Given the description of an element on the screen output the (x, y) to click on. 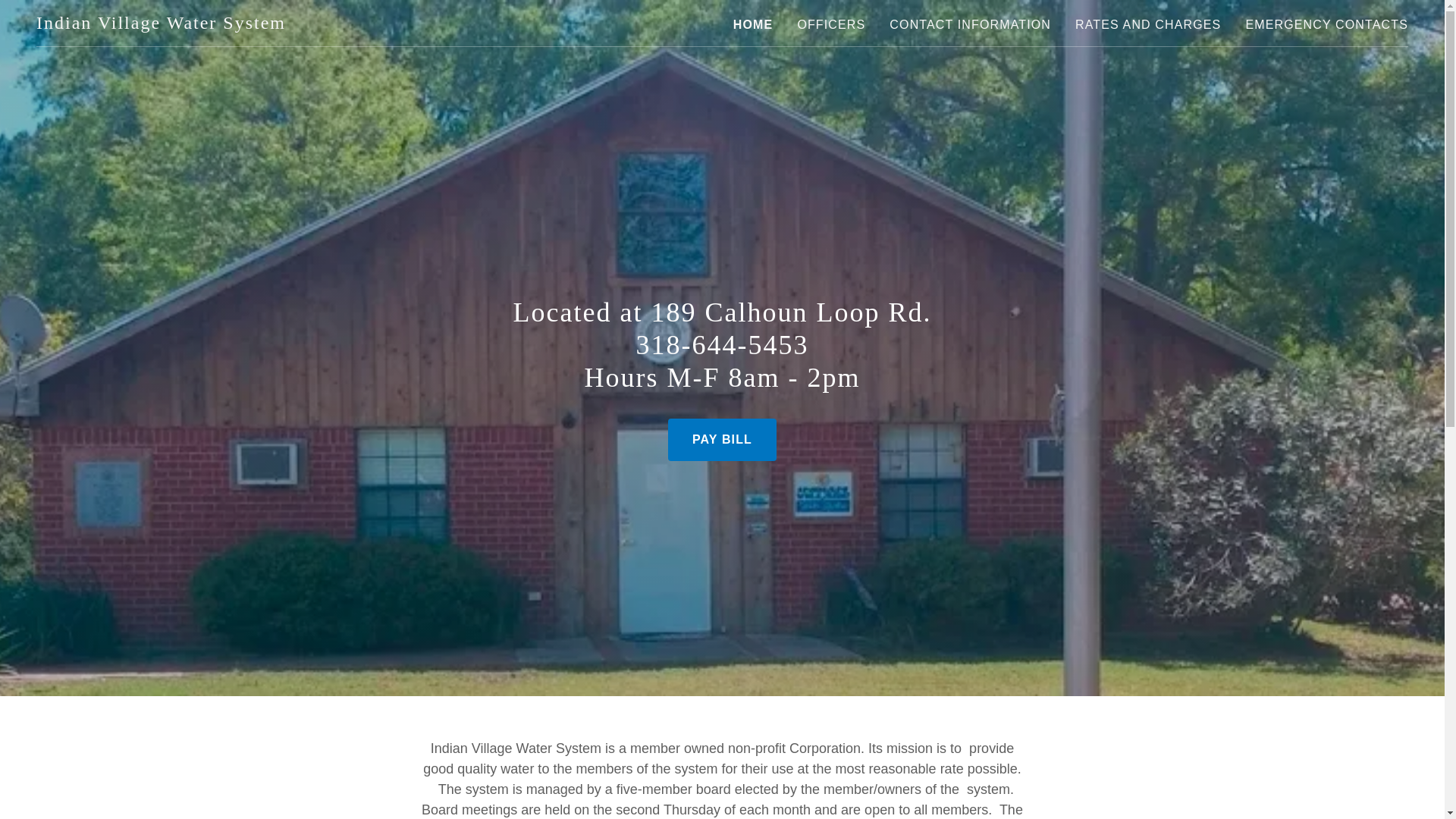
RATES AND CHARGES (1147, 24)
PAY BILL (722, 439)
CONTACT INFORMATION (970, 24)
Indian Village Water System (160, 23)
Indian Village Water System (160, 23)
EMERGENCY CONTACTS (1326, 24)
HOME (753, 24)
OFFICERS (830, 24)
